Given the description of an element on the screen output the (x, y) to click on. 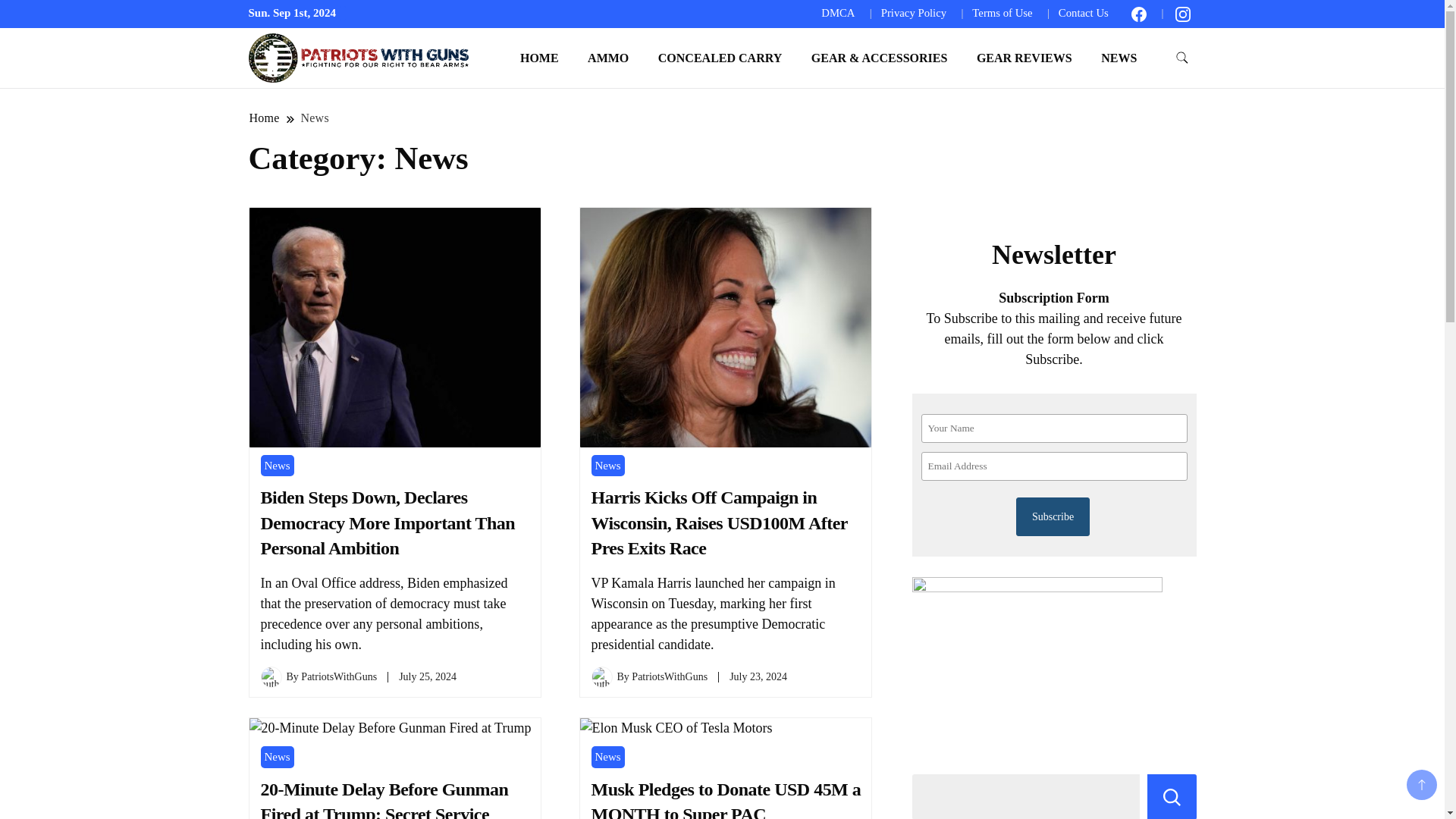
Home (264, 117)
News (314, 117)
CONCEALED CARRY (719, 57)
July 25, 2024 (427, 676)
Subscribe (1052, 516)
Terms of Use (1002, 12)
Privacy Policy (913, 12)
NEWS (1118, 57)
GEAR REVIEWS (1023, 57)
